Given the description of an element on the screen output the (x, y) to click on. 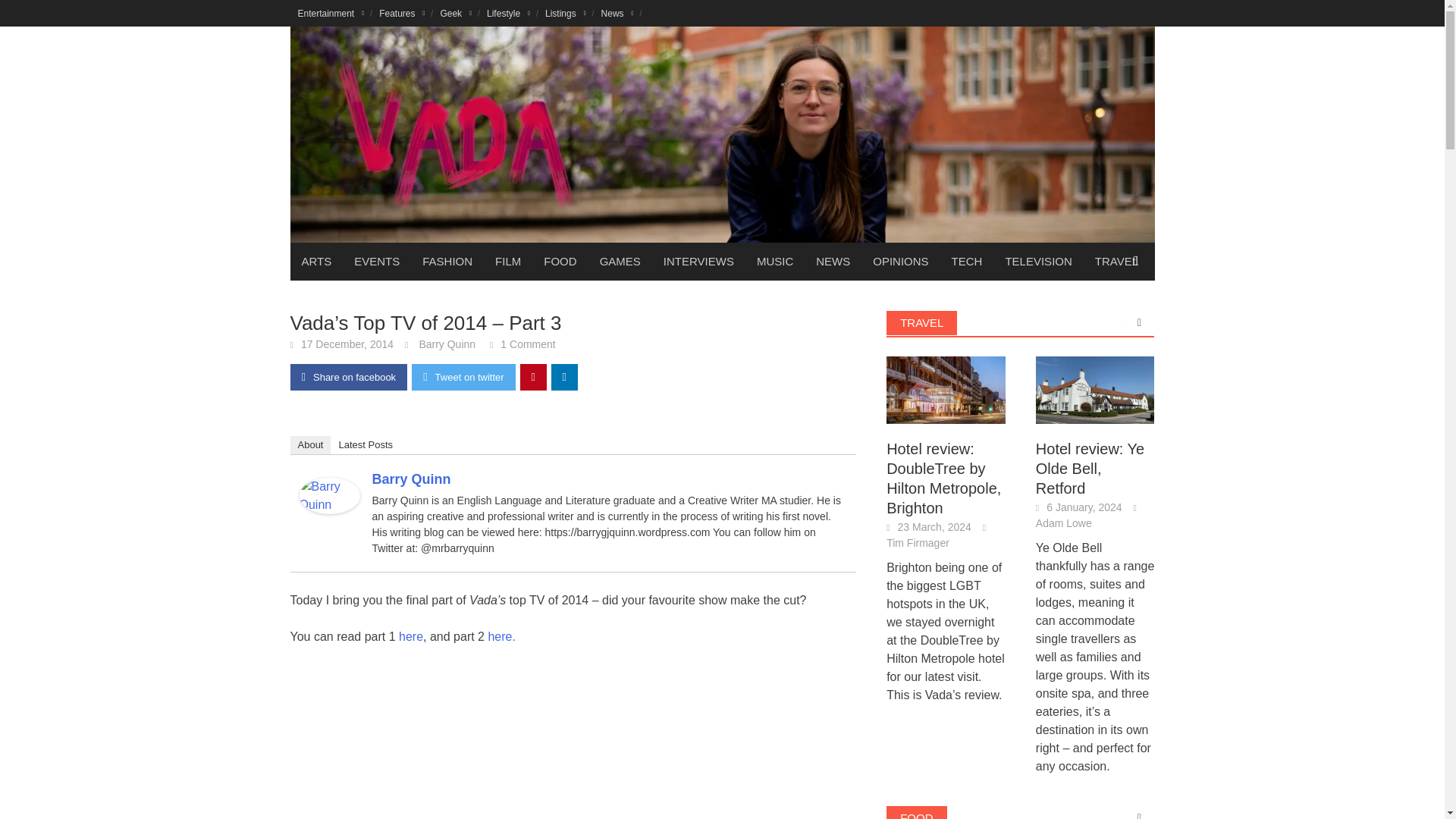
News (618, 13)
EVENTS (376, 261)
INTERVIEWS (698, 261)
Hotel review: DoubleTree by Hilton Metropole, Brighton (946, 390)
ARTS (315, 261)
Geek (455, 13)
Hotel review: DoubleTree by Hilton Metropole, Brighton (946, 389)
Barry Quinn (328, 494)
Hotel review: Ye Olde Bell, Retford (1094, 389)
GAMES (620, 261)
NEWS (833, 261)
FOOD (560, 261)
Lifestyle (508, 13)
FILM (507, 261)
MUSIC (775, 261)
